Given the description of an element on the screen output the (x, y) to click on. 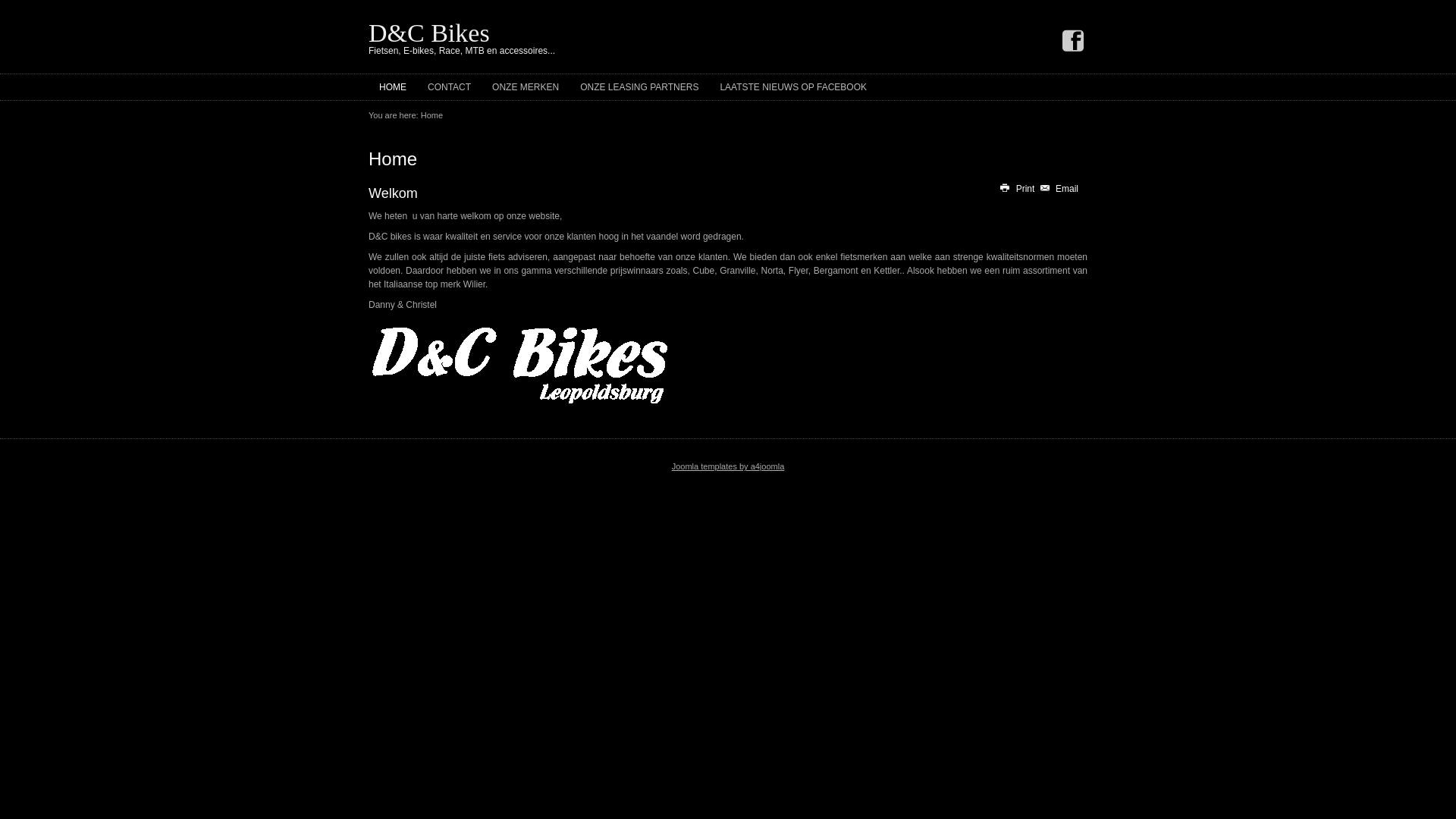
HOME Element type: text (392, 87)
LAATSTE NIEUWS OP FACEBOOK Element type: text (793, 87)
Email Element type: text (1059, 188)
Welkom Element type: text (392, 192)
Facebook Element type: hover (1072, 41)
ONZE LEASING PARTNERS Element type: text (639, 87)
Print Element type: text (1018, 188)
ONZE MERKEN Element type: text (525, 87)
Joomla templates by a4joomla Element type: text (727, 465)
CONTACT Element type: text (449, 87)
D&C Bikes Element type: text (428, 32)
